Given the description of an element on the screen output the (x, y) to click on. 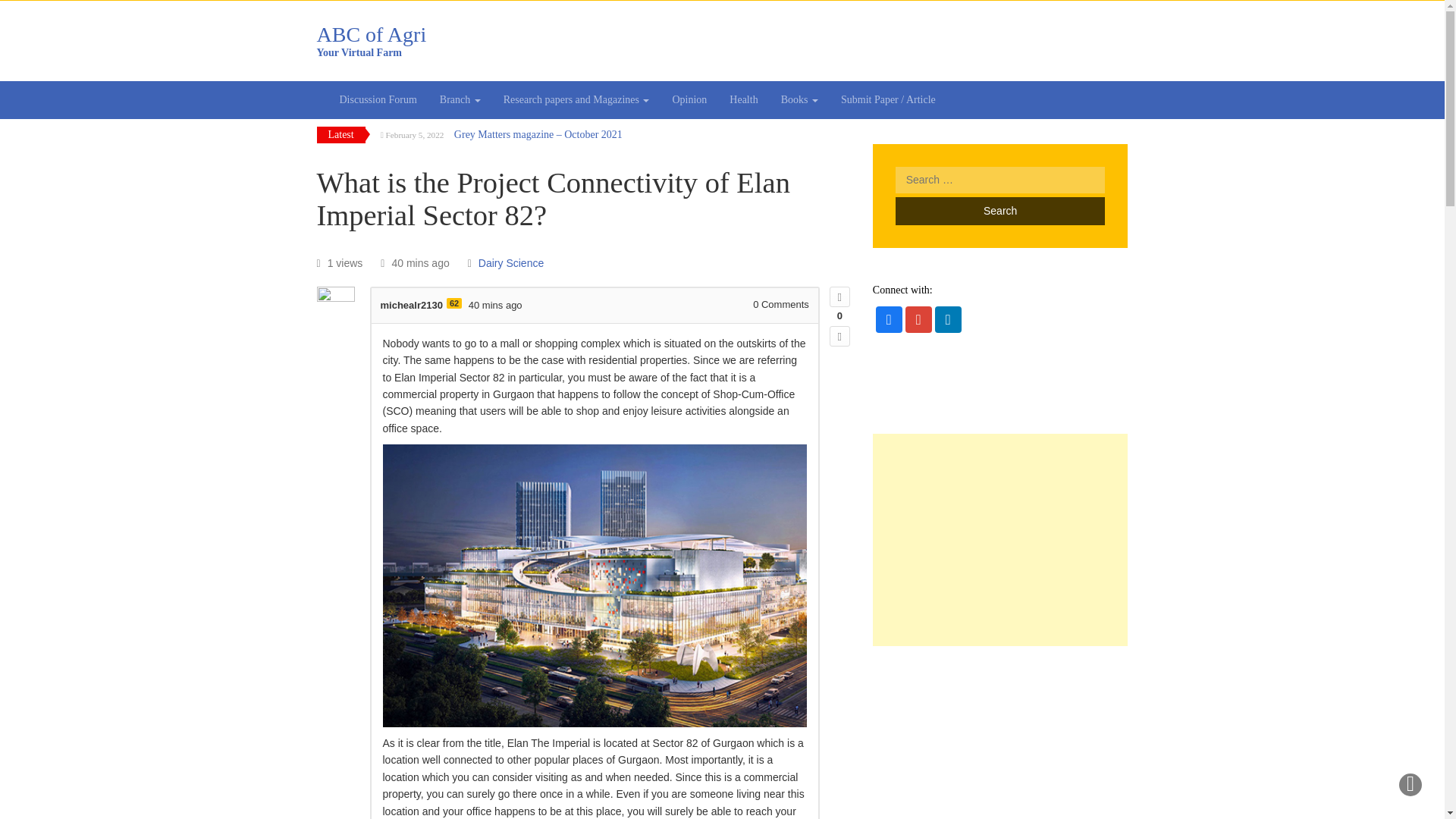
Discussion Forum (377, 99)
62 (453, 303)
michealr2130 (411, 305)
Books (799, 99)
Branch (460, 99)
Branch (460, 99)
Health (742, 99)
Opinion (689, 99)
Discussion Forum (377, 99)
Dairy Science (511, 263)
40 mins ago (722, 40)
Research papers and Magazines (495, 305)
Search (576, 99)
Search (1000, 211)
